Given the description of an element on the screen output the (x, y) to click on. 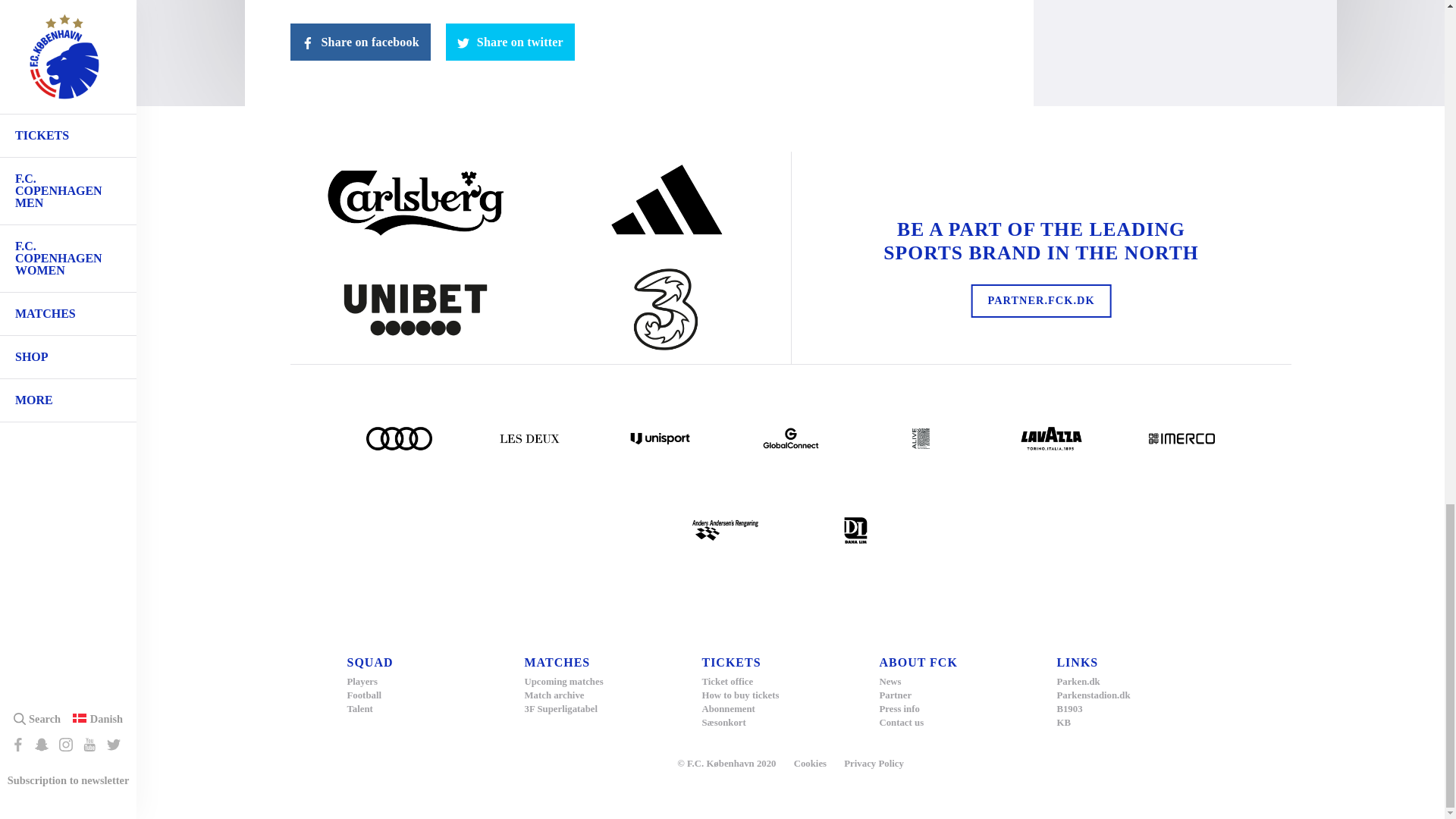
Share on twitter (510, 41)
Share on facebook (359, 41)
